Given the description of an element on the screen output the (x, y) to click on. 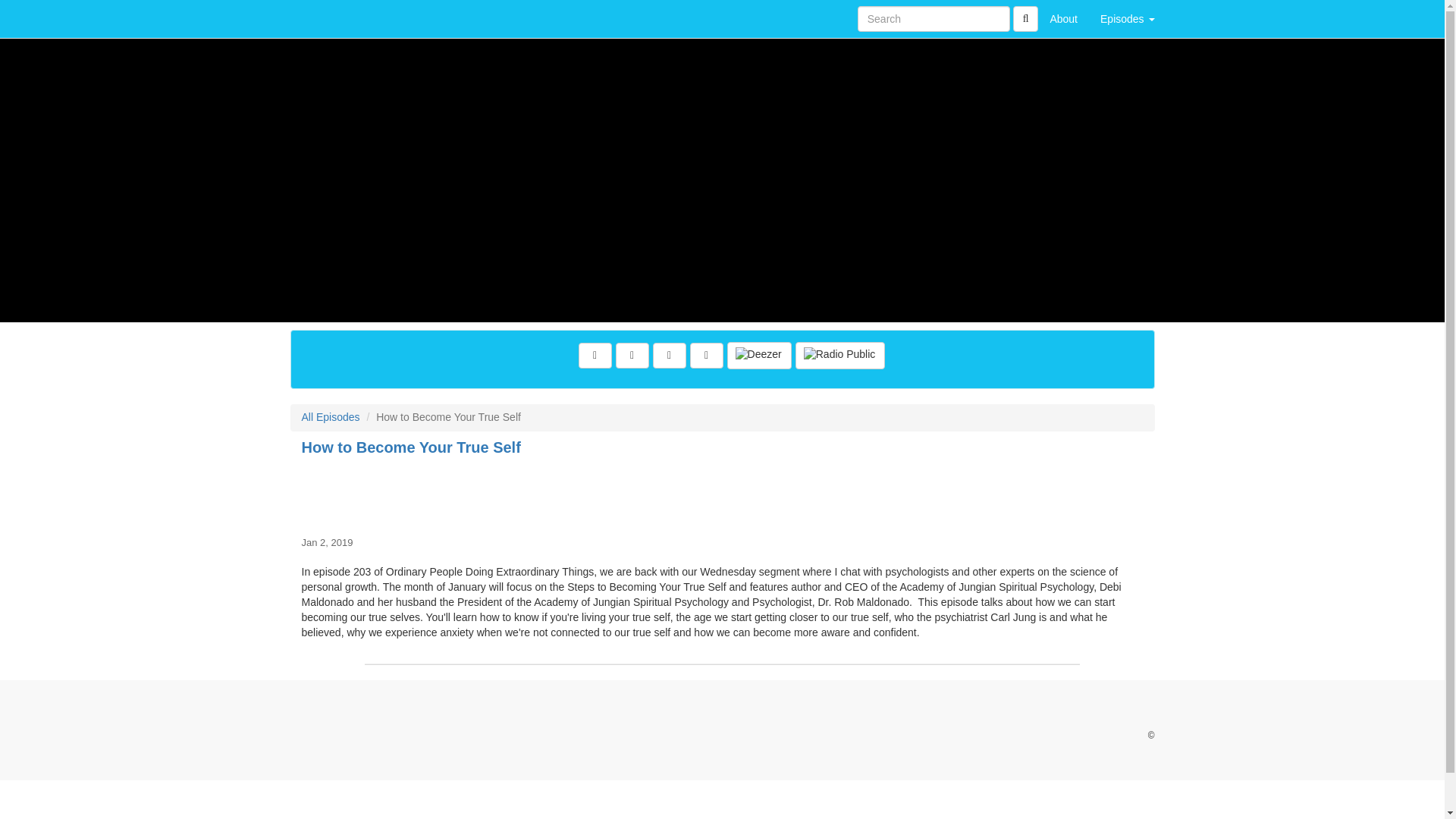
Listen on Radio Public (839, 355)
Subscribe to RSS Feed (706, 355)
Episodes (1127, 18)
Home Page (320, 18)
Listen on Deezer (759, 355)
Visit Us on Facebook (594, 355)
How to Become Your True Self (721, 493)
About (1063, 18)
Visit Us on Twitter (632, 355)
Email This Podcast (668, 355)
